Given the description of an element on the screen output the (x, y) to click on. 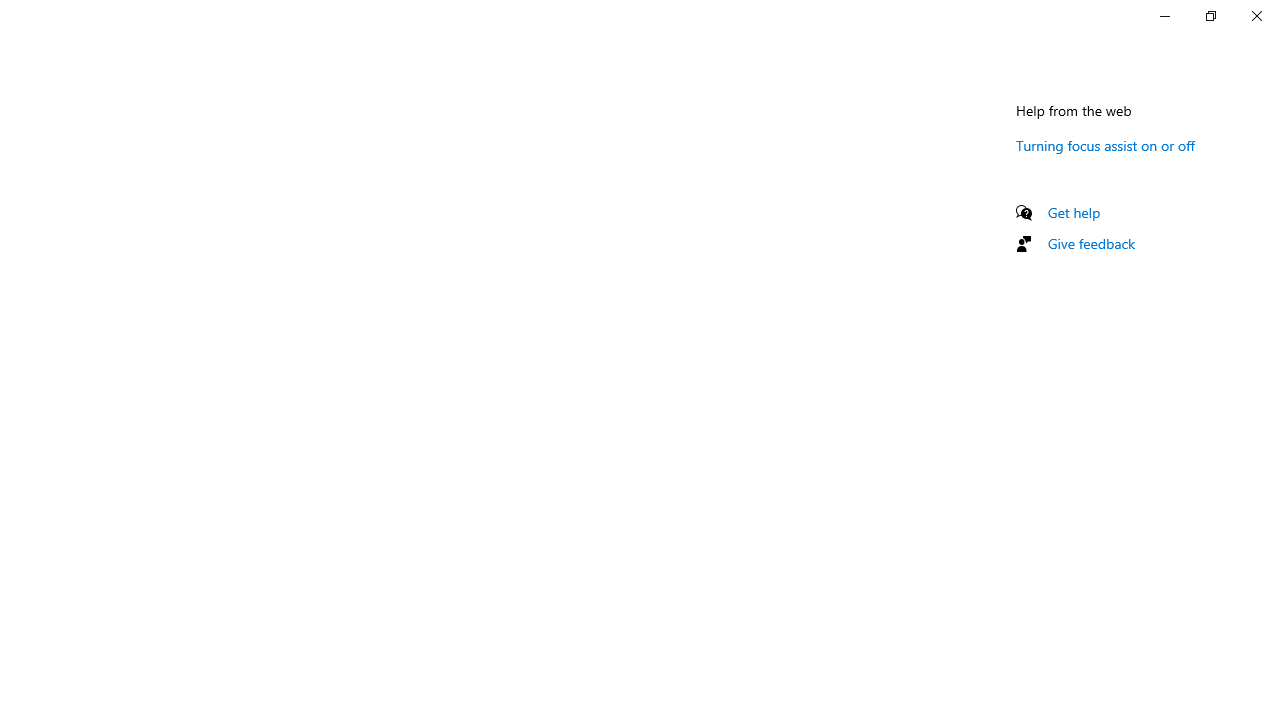
Turning focus assist on or off (1105, 145)
Get help (1074, 212)
Close Settings (1256, 15)
Minimize Settings (1164, 15)
Restore Settings (1210, 15)
Give feedback (1091, 243)
